Given the description of an element on the screen output the (x, y) to click on. 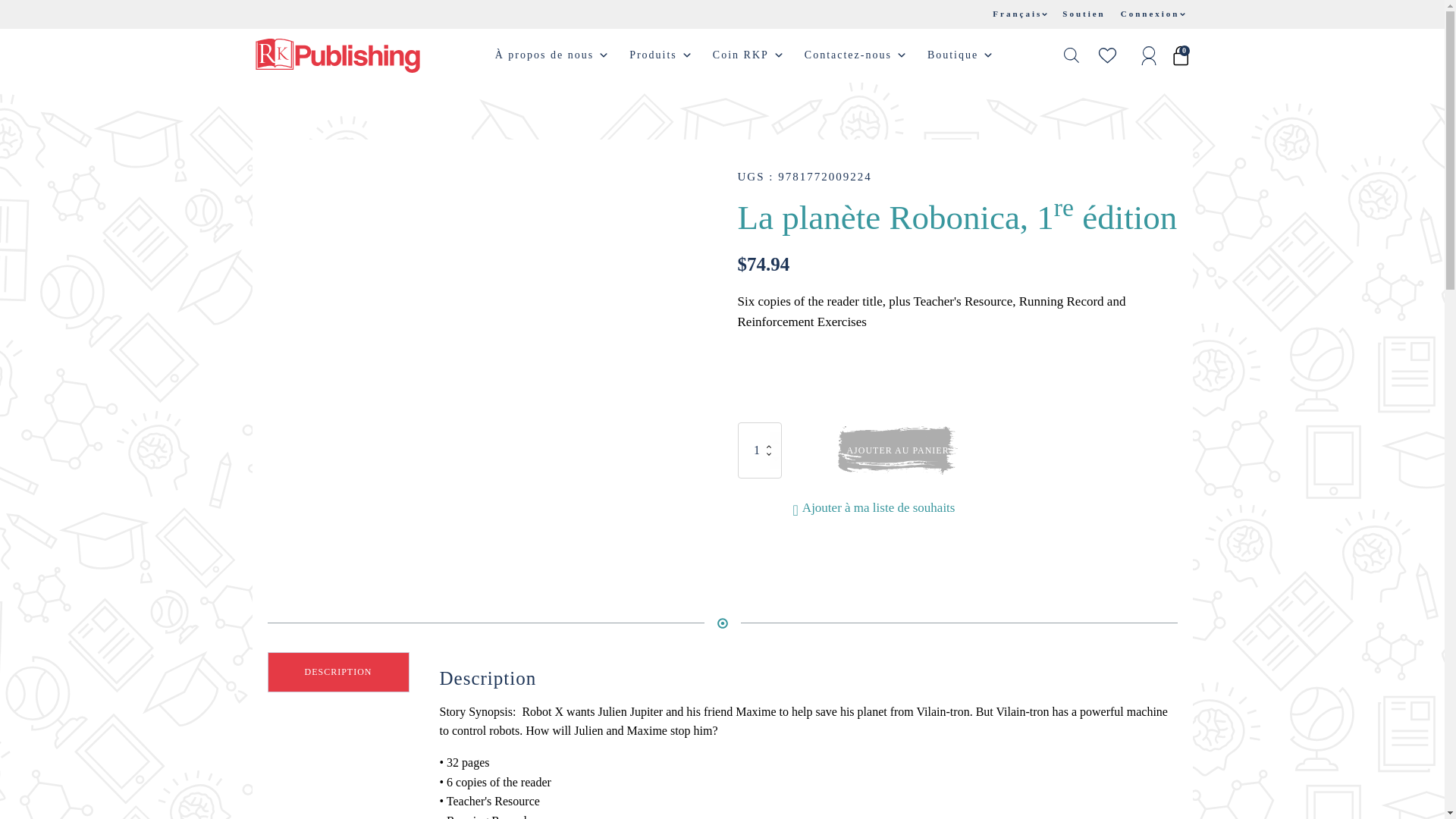
Soutien (1083, 14)
Coin RKP (749, 55)
Contactez-nous (856, 55)
Produits (661, 55)
Connexion (1152, 14)
